Given the description of an element on the screen output the (x, y) to click on. 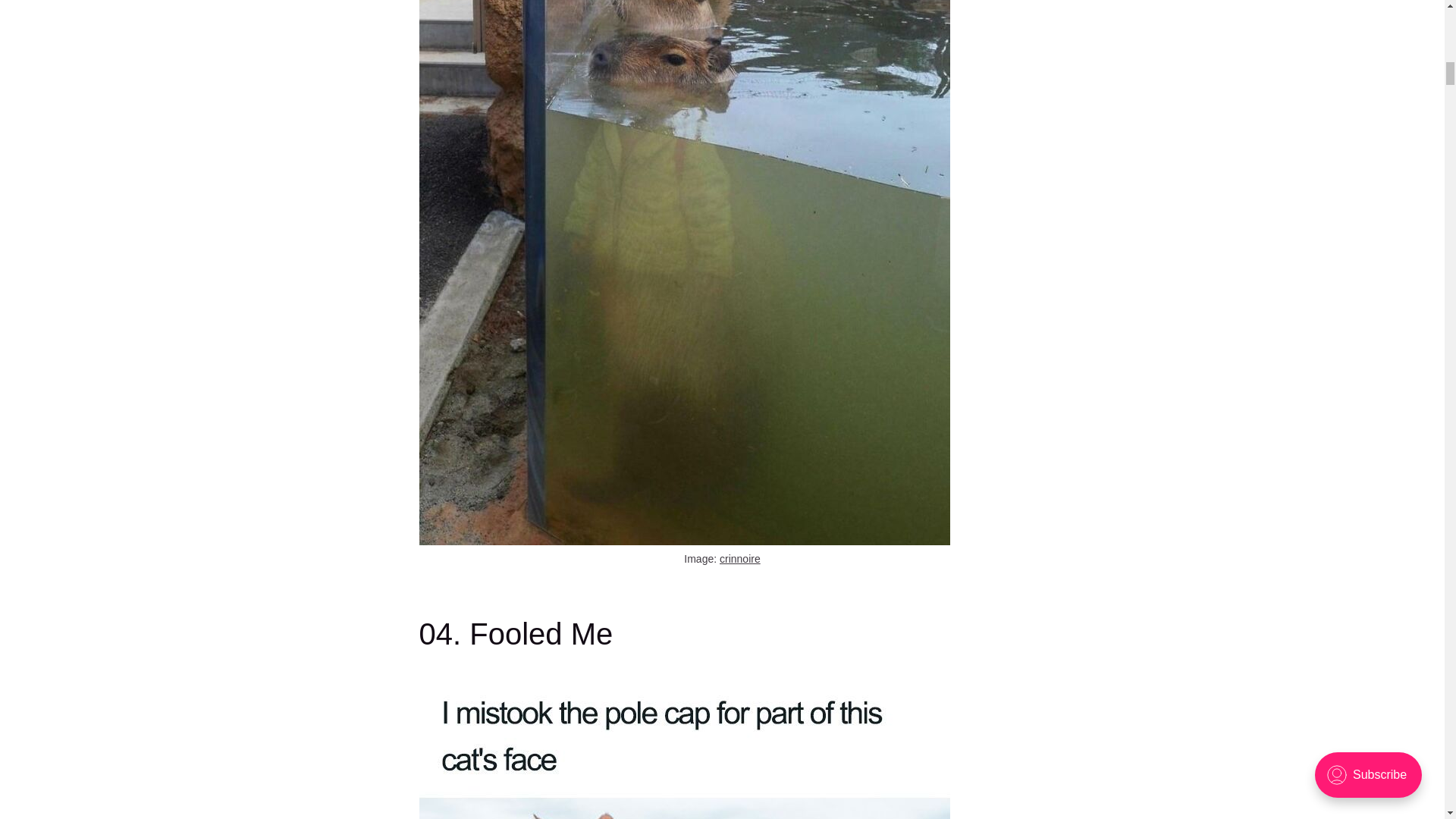
Fooled Me (684, 748)
crinnoire (739, 558)
